Given the description of an element on the screen output the (x, y) to click on. 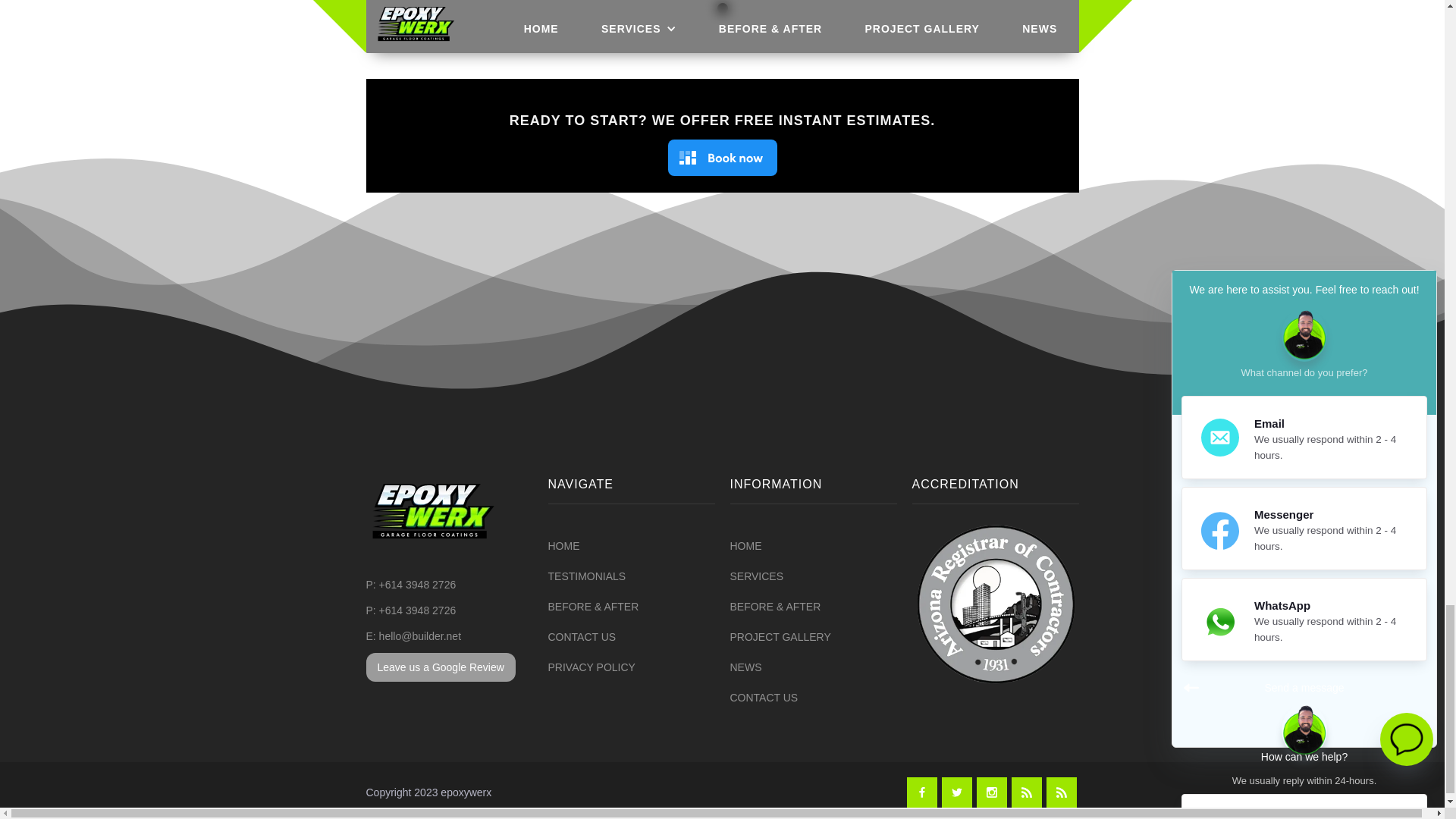
HOME (745, 545)
HOME (563, 545)
Leave us a Google Review (440, 666)
TESTIMONIALS (586, 575)
CONTACT US (581, 636)
SERVICES (756, 575)
PRIVACY POLICY (590, 667)
